Given the description of an element on the screen output the (x, y) to click on. 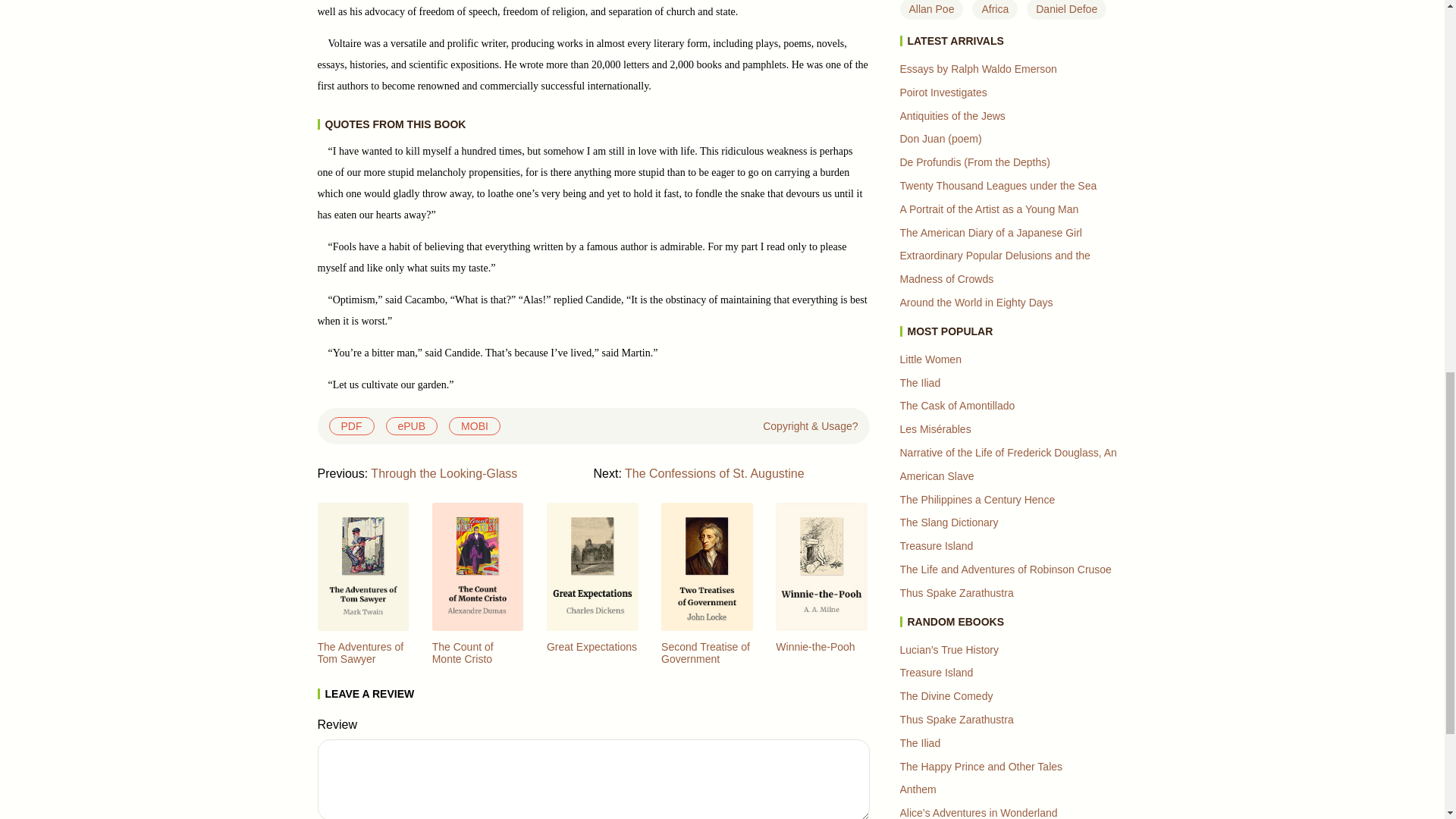
The Philippines a Century Hence (976, 499)
Extraordinary Popular Delusions and the Madness of Crowds (994, 267)
ePUB (411, 425)
Essays by Ralph Waldo Emerson (978, 69)
PDF (351, 425)
Treasure Island (935, 545)
The Cask of Amontillado (956, 405)
The Slang Dictionary (948, 522)
The Confessions of St. Augustine (714, 472)
Second Treatise of Government (706, 658)
Great Expectations (592, 645)
MOBI (474, 425)
The Iliad (919, 382)
Winnie-the-Pooh (815, 645)
